Given the description of an element on the screen output the (x, y) to click on. 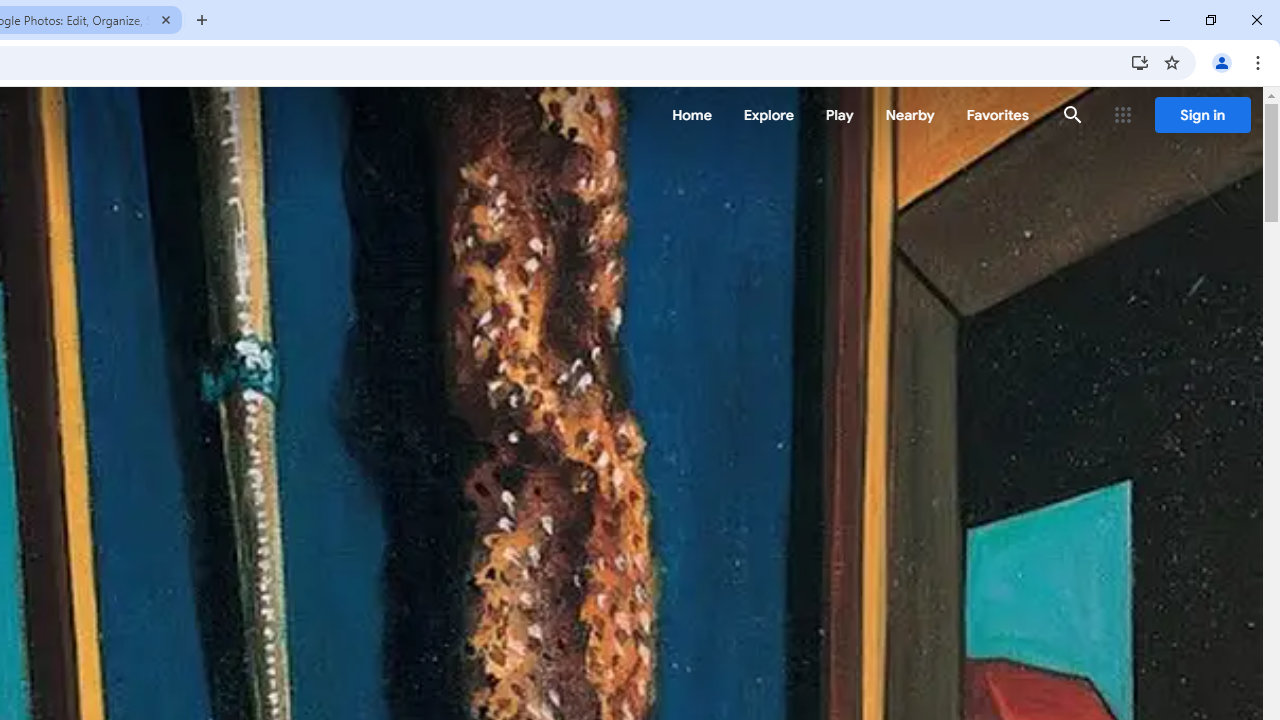
Nearby (910, 115)
Favorites (996, 115)
Home (691, 115)
Install Google Arts & Culture (1139, 62)
Play (840, 115)
Explore (768, 115)
